Given the description of an element on the screen output the (x, y) to click on. 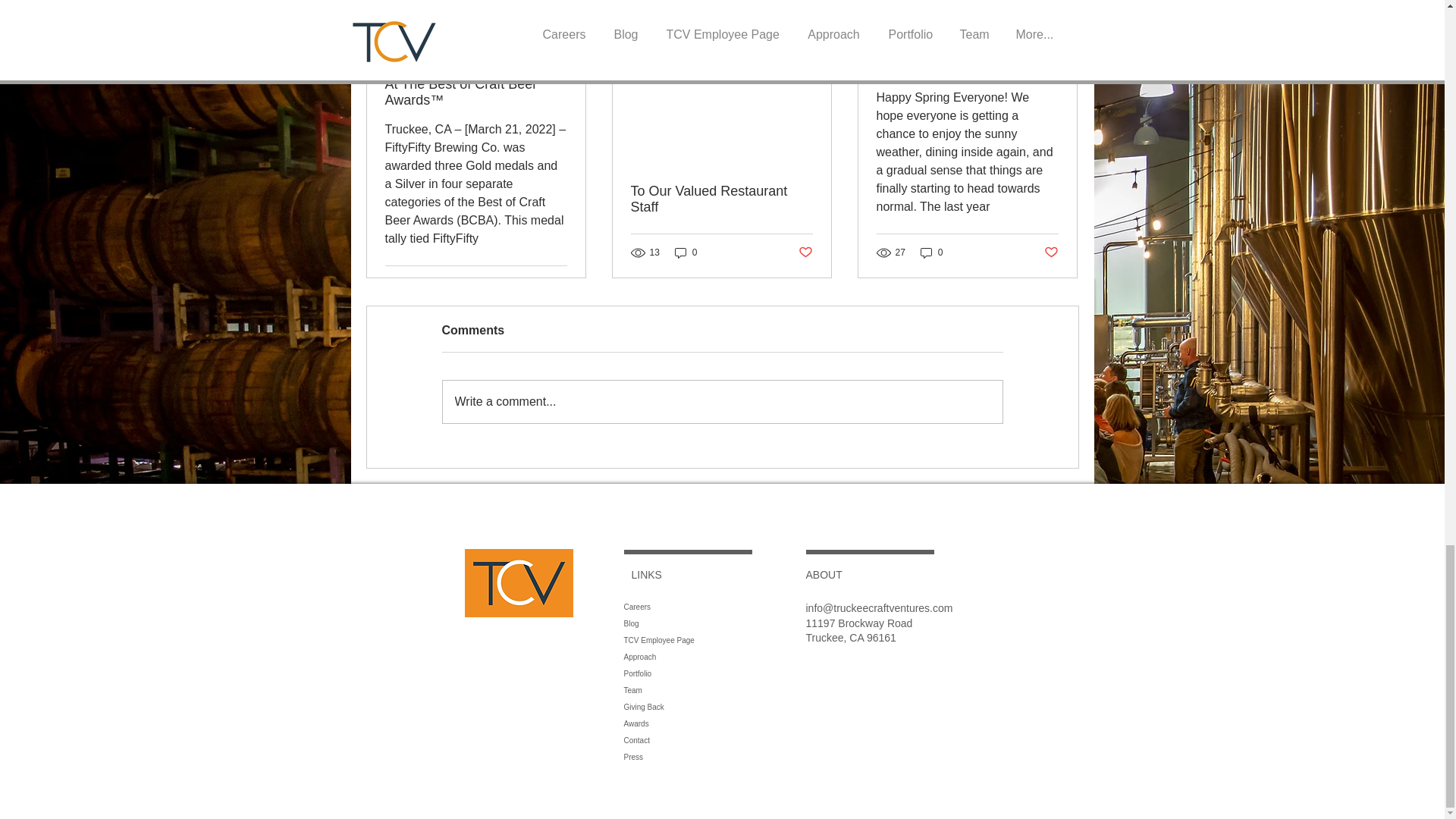
0 (685, 252)
0 (931, 252)
Careers (729, 606)
Portfolio (729, 673)
Pivoting Towards the Future (967, 68)
TCV Employee Page (729, 640)
To Our Valued Restaurant Staff (721, 199)
See All (1061, 15)
Approach (729, 657)
Contact (729, 740)
Blog (729, 623)
Post not marked as liked (558, 283)
Awards (729, 723)
Giving Back (729, 707)
Team (729, 690)
